Given the description of an element on the screen output the (x, y) to click on. 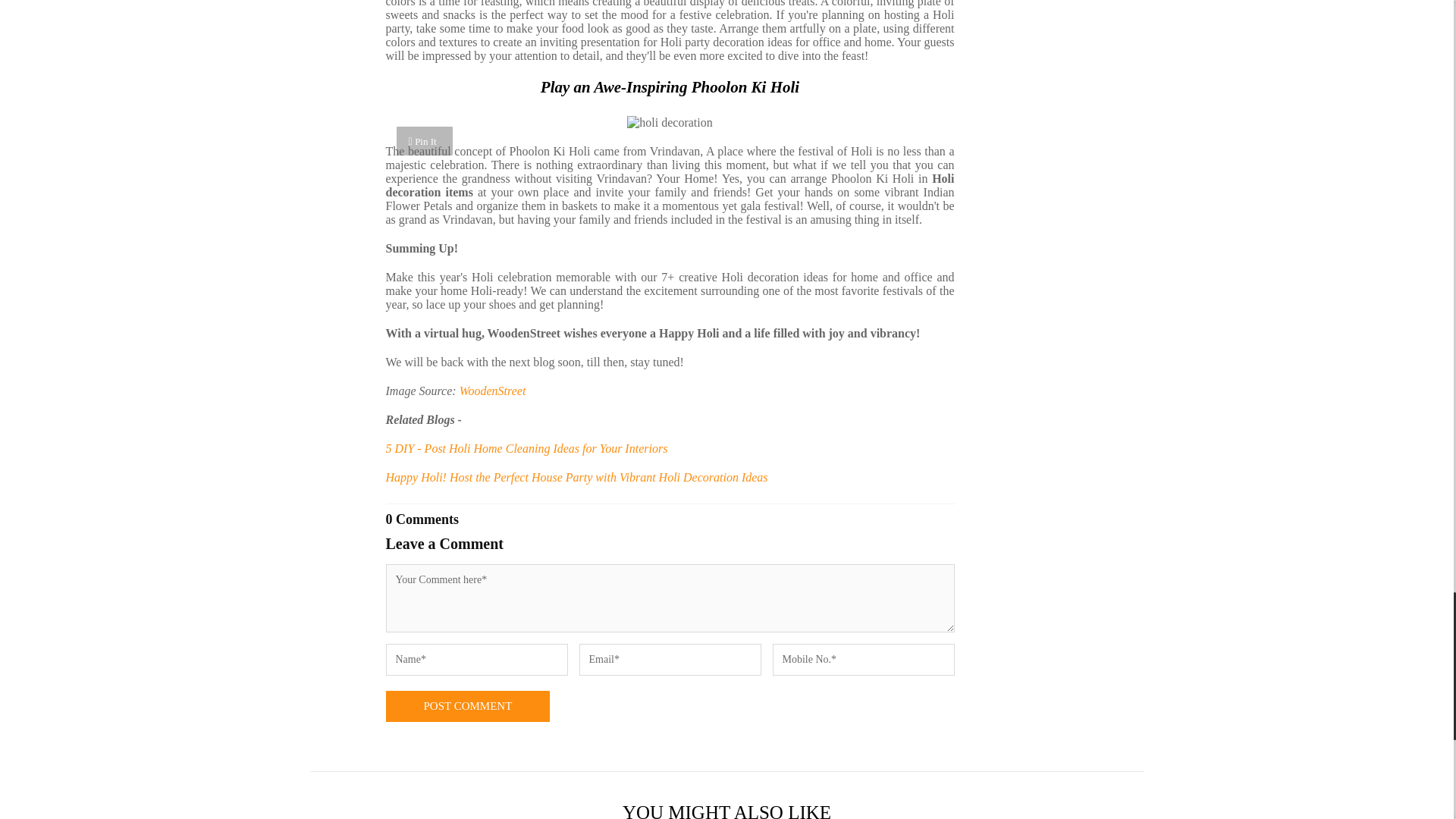
holi decoration (669, 122)
